Given the description of an element on the screen output the (x, y) to click on. 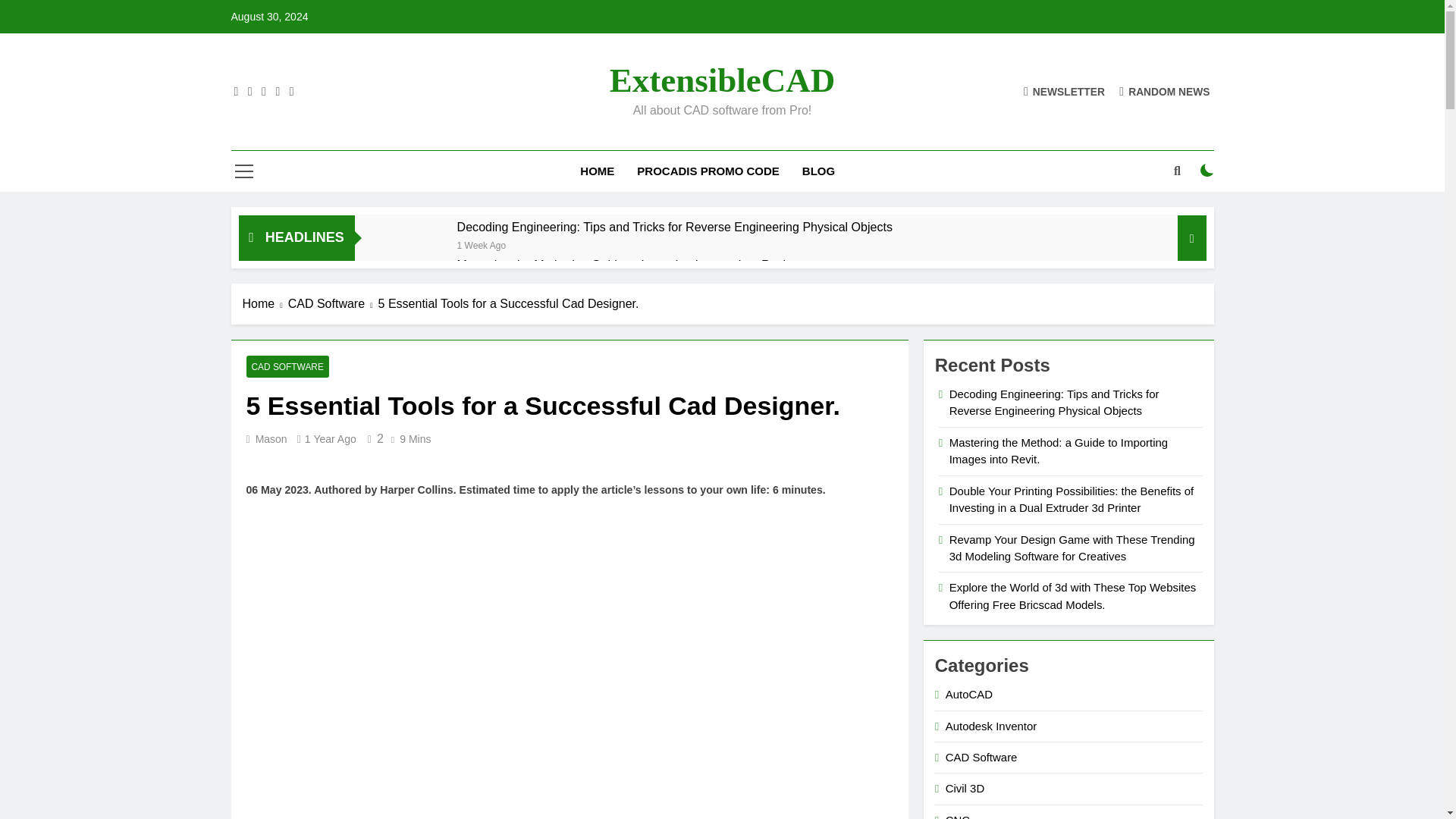
RANDOM NEWS (1164, 91)
BLOG (817, 170)
PROCADIS PROMO CODE (708, 170)
NEWSLETTER (1064, 91)
ExtensibleCAD (722, 80)
HOME (597, 170)
Home (265, 303)
